Given the description of an element on the screen output the (x, y) to click on. 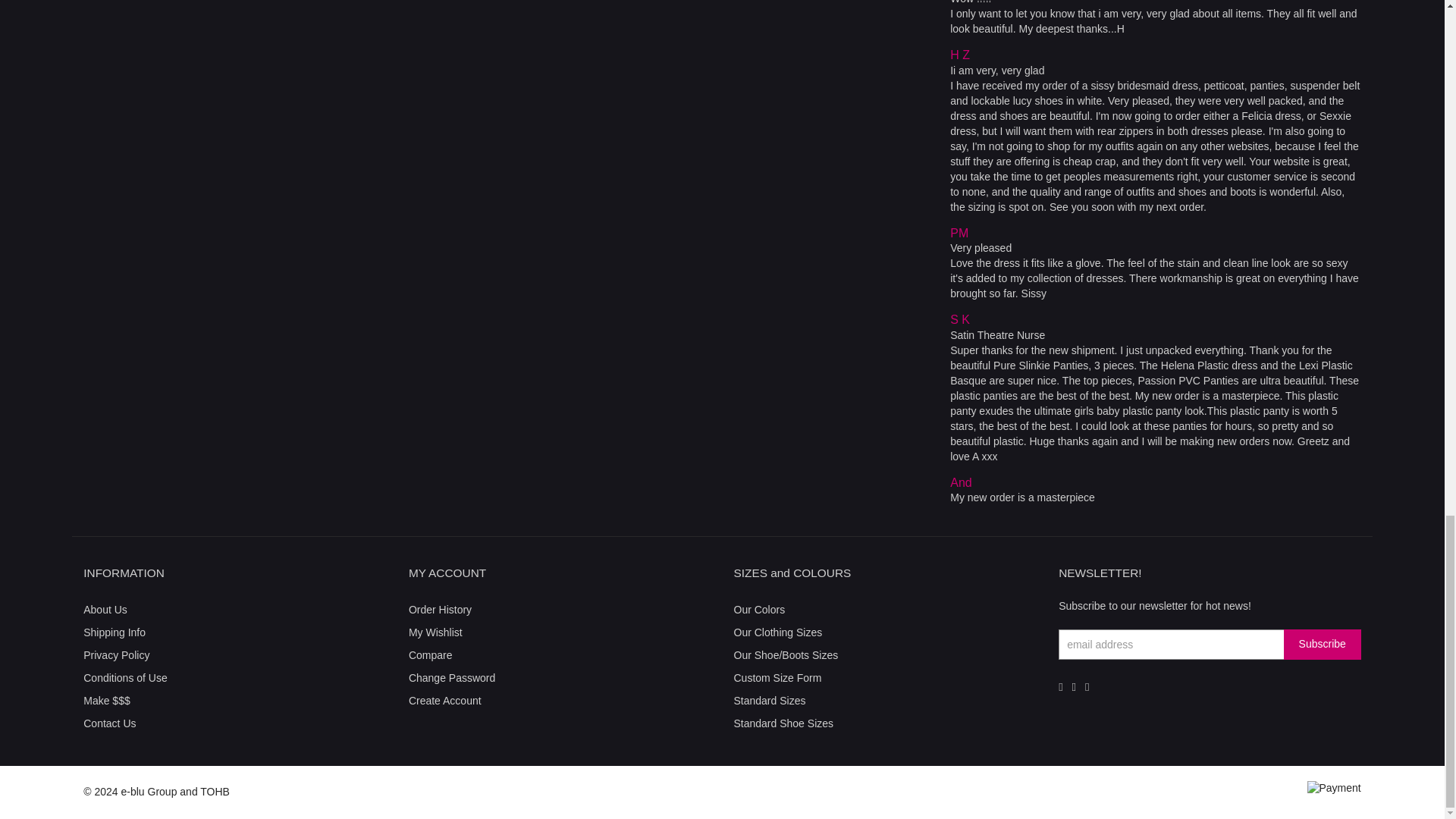
Subscribe (1322, 644)
